Given the description of an element on the screen output the (x, y) to click on. 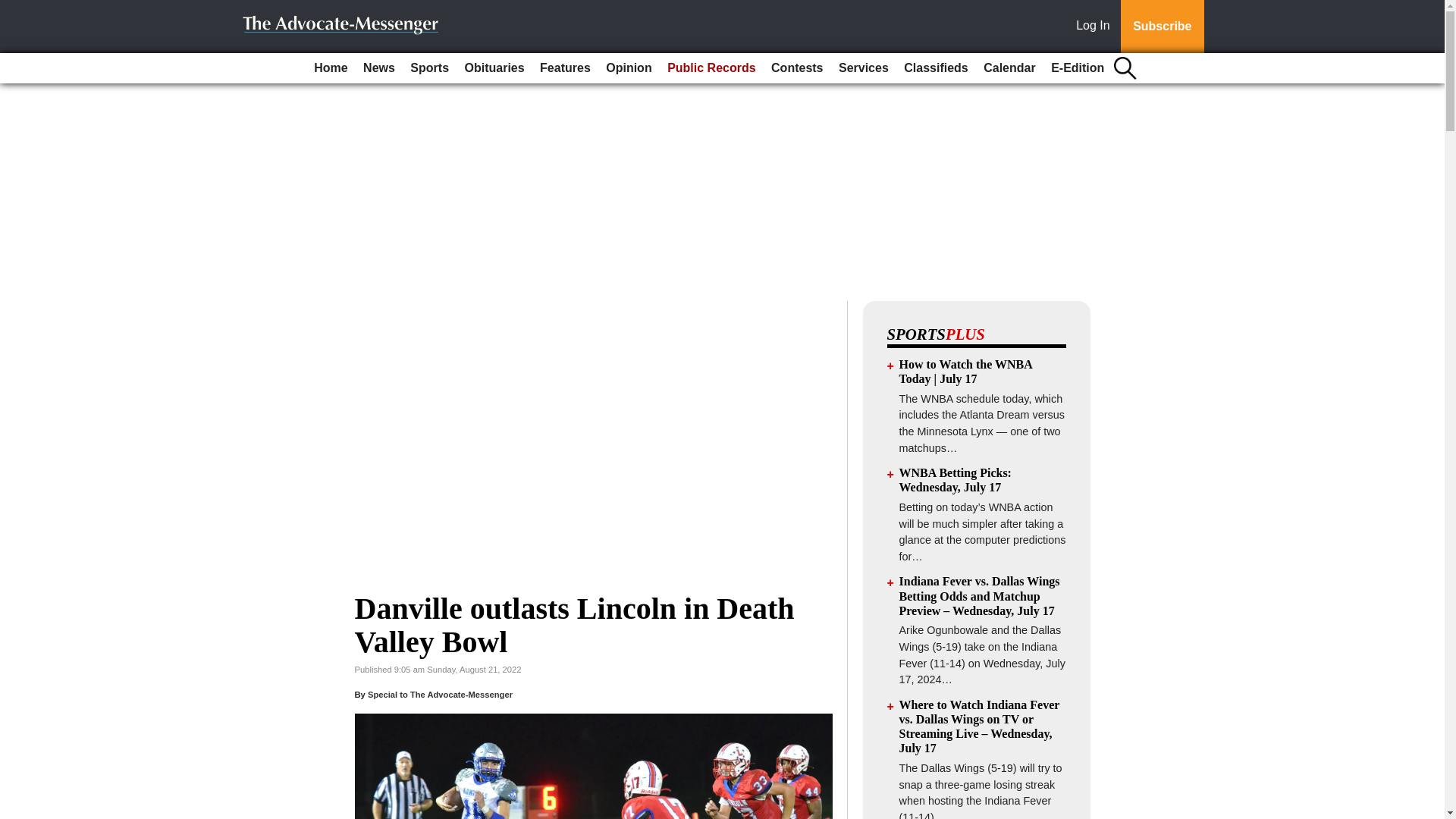
Log In (1095, 26)
WNBA Betting Picks: Wednesday, July 17 (955, 479)
Go (13, 9)
Subscribe (1162, 26)
Opinion (628, 68)
Public Records (711, 68)
Services (863, 68)
Home (330, 68)
Contests (796, 68)
News (378, 68)
Features (565, 68)
Classifieds (936, 68)
E-Edition (1077, 68)
Sports (429, 68)
Calendar (1008, 68)
